Given the description of an element on the screen output the (x, y) to click on. 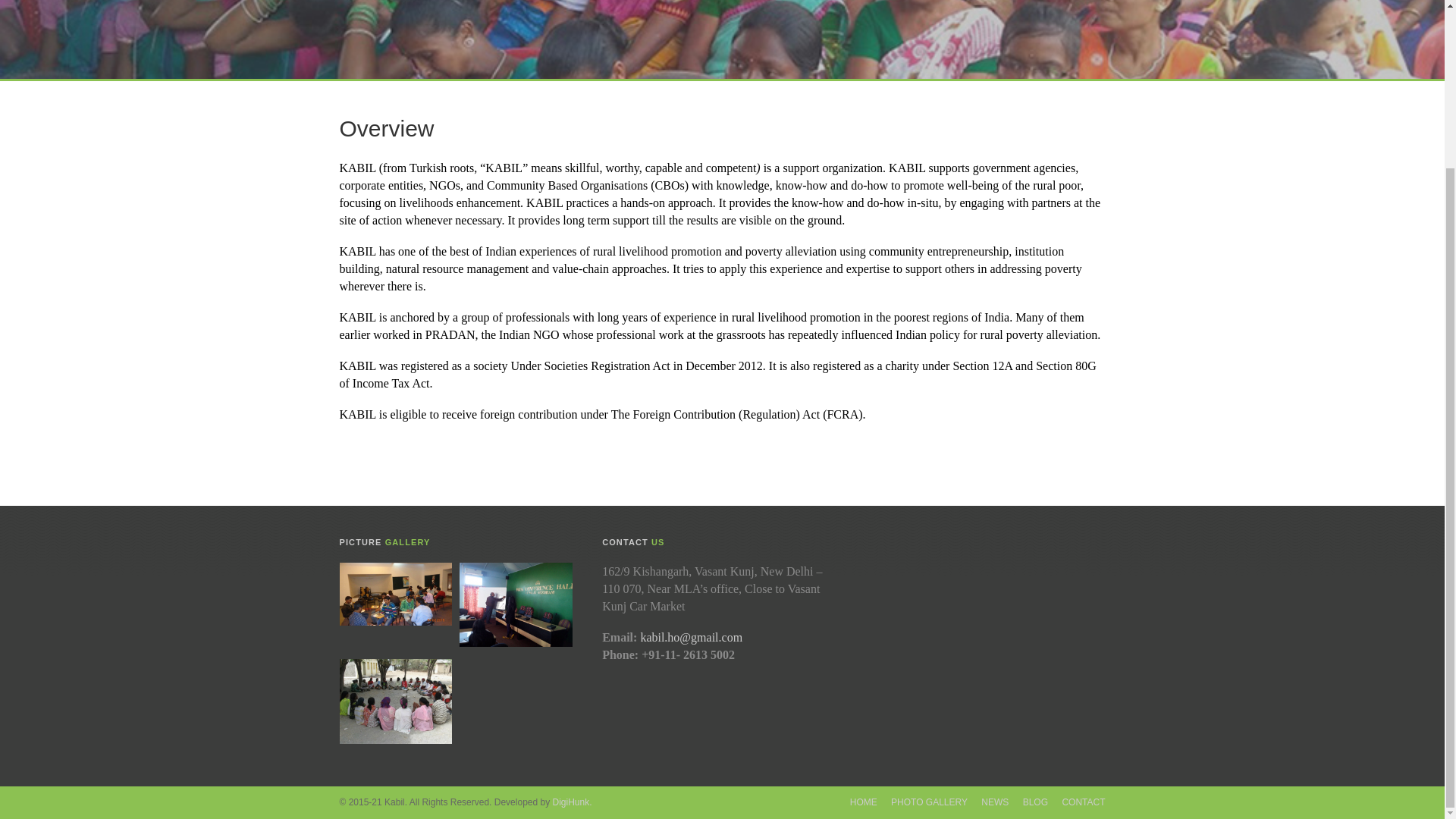
DigiHunk. (571, 801)
HOME (863, 801)
PHOTO GALLERY (929, 801)
NEWS (995, 801)
BLOG (1035, 801)
